Given the description of an element on the screen output the (x, y) to click on. 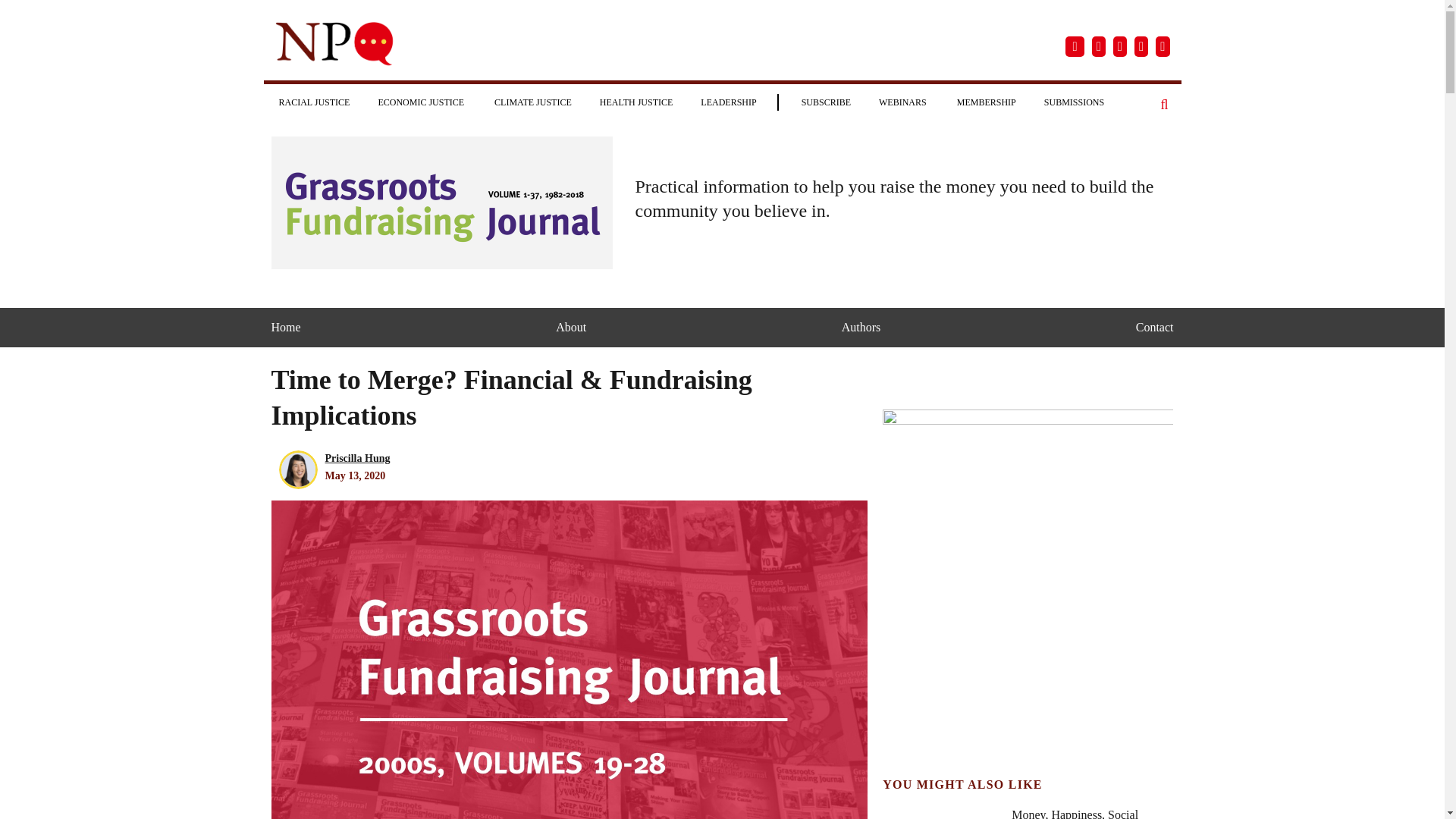
Search (1164, 104)
Subscribe (826, 102)
WEBINARS (903, 102)
HEALTH JUSTICE (636, 102)
Posts by Priscilla Hung (357, 458)
Authors (860, 327)
SUBMISSIONS (1074, 102)
MEMBERSHIP (986, 102)
RACIAL JUSTICE (314, 102)
Membership (986, 102)
SUBSCRIBE (826, 102)
CLIMATE JUSTICE (532, 102)
Contact (1154, 327)
Submissions (1074, 102)
Leadership (727, 102)
